Given the description of an element on the screen output the (x, y) to click on. 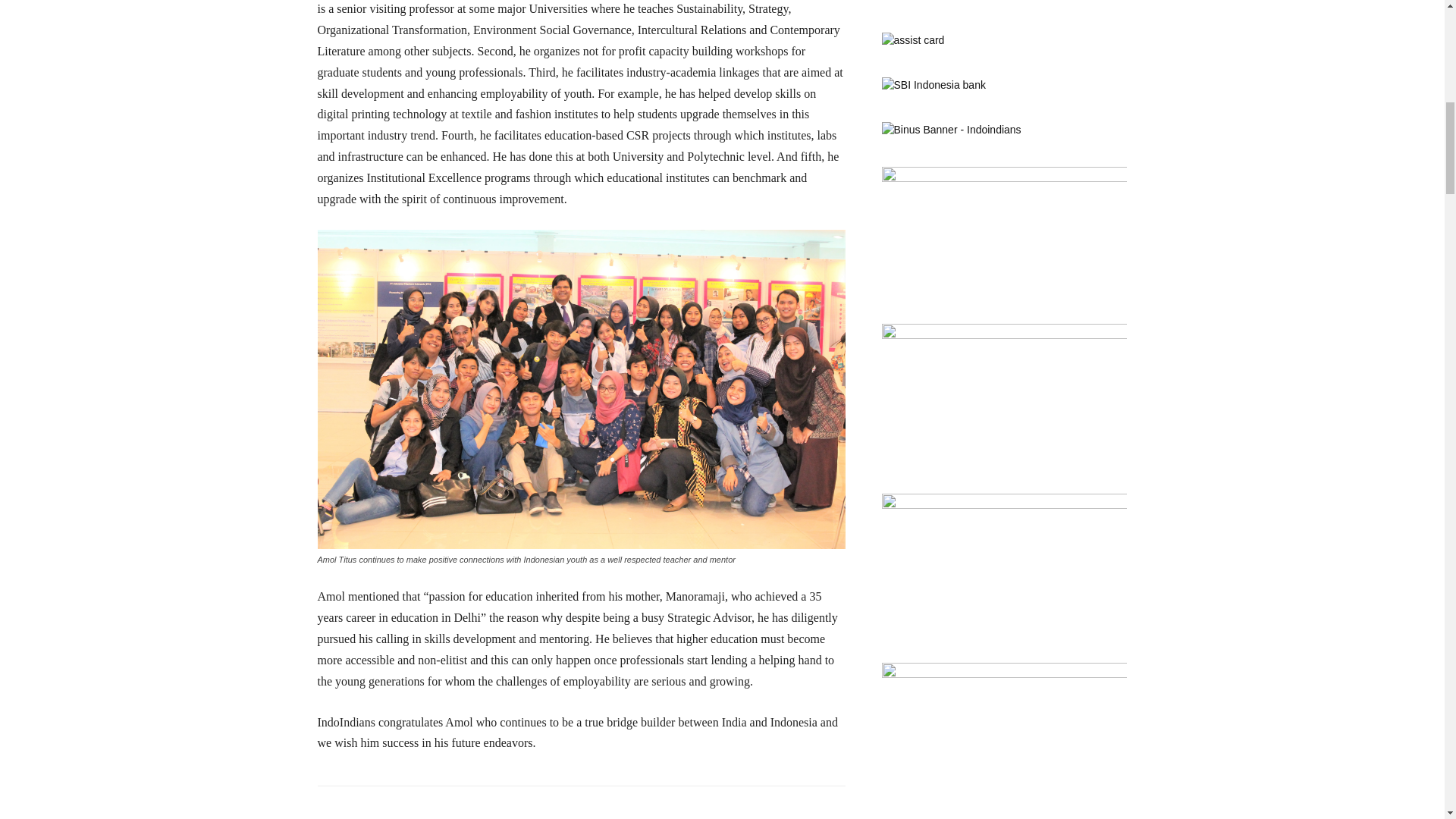
bottomFacebookLike (430, 810)
